Given the description of an element on the screen output the (x, y) to click on. 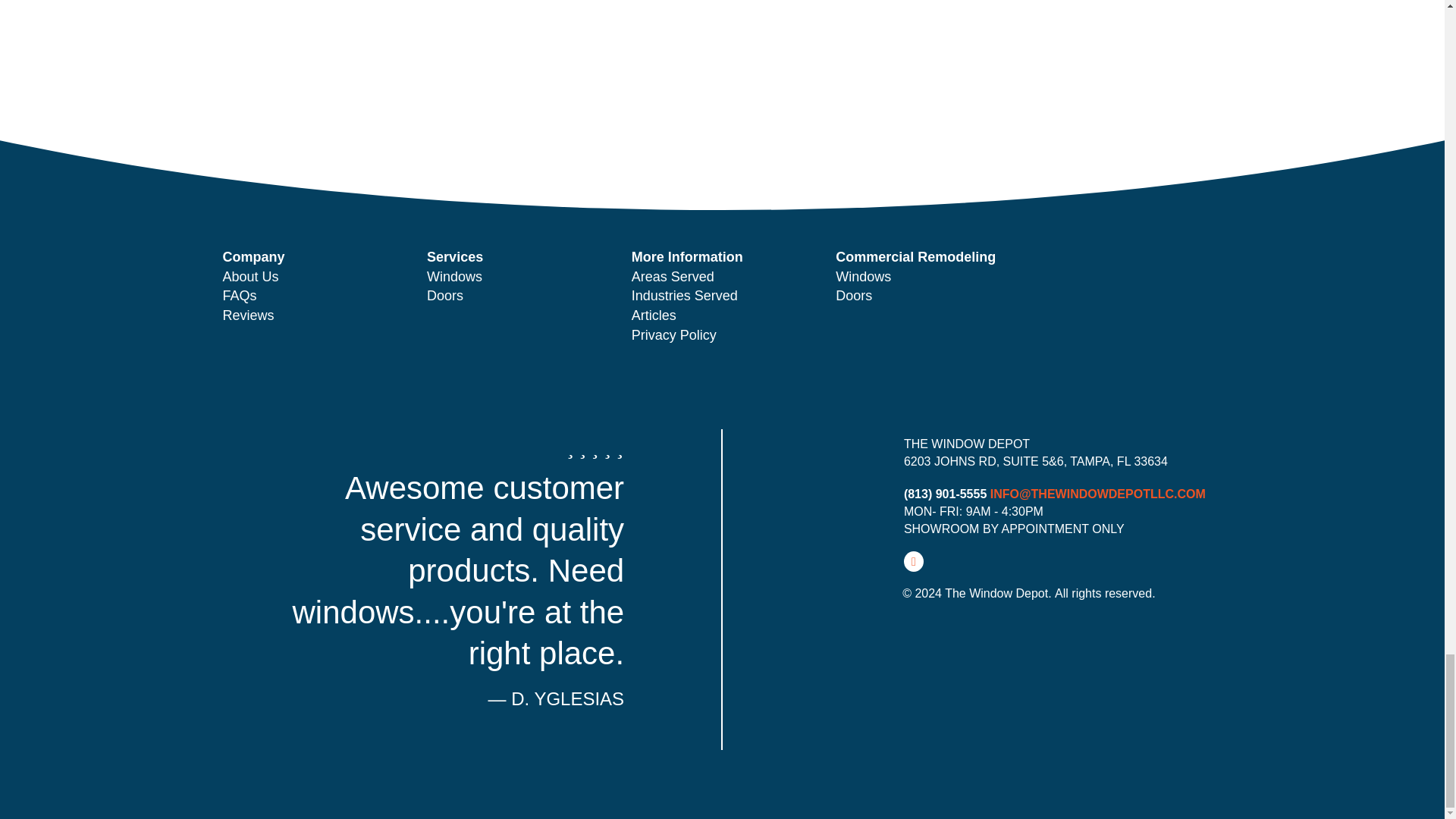
The Window Depot (850, 465)
